Given the description of an element on the screen output the (x, y) to click on. 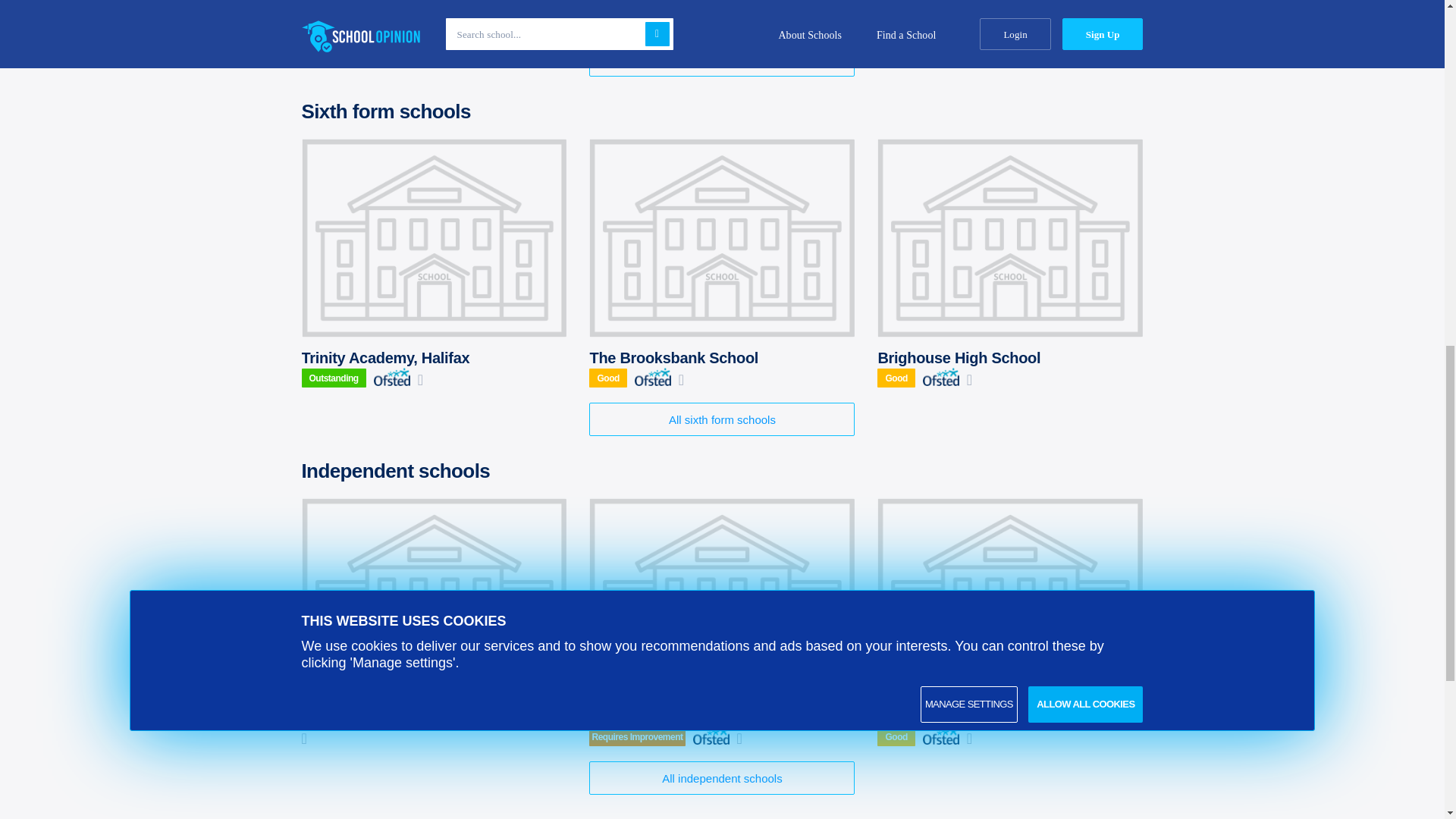
All secondary schools (721, 59)
All independent schools (721, 777)
All sixth form schools (721, 418)
